Given the description of an element on the screen output the (x, y) to click on. 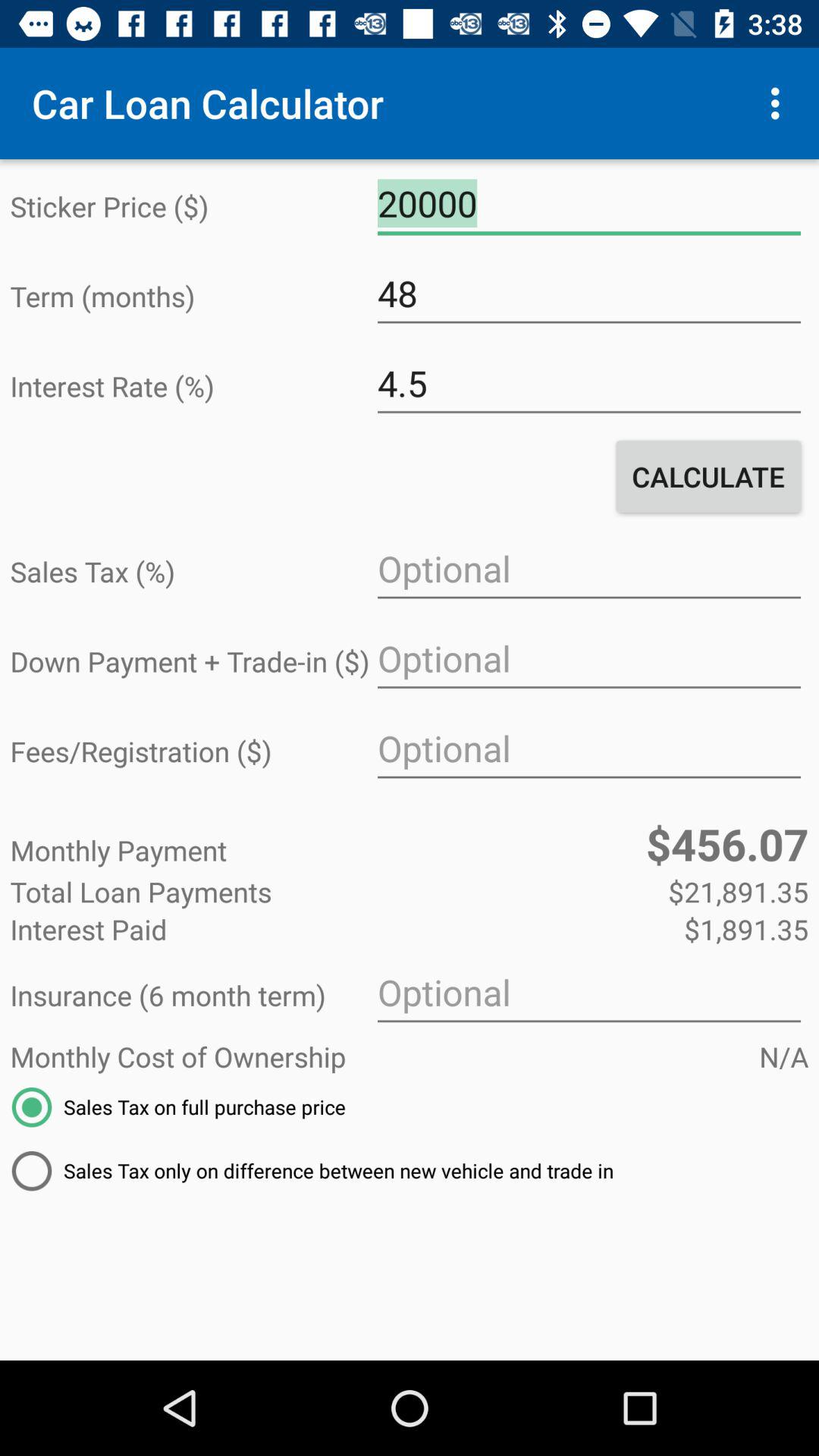
tap the icon above 48 icon (588, 204)
